Given the description of an element on the screen output the (x, y) to click on. 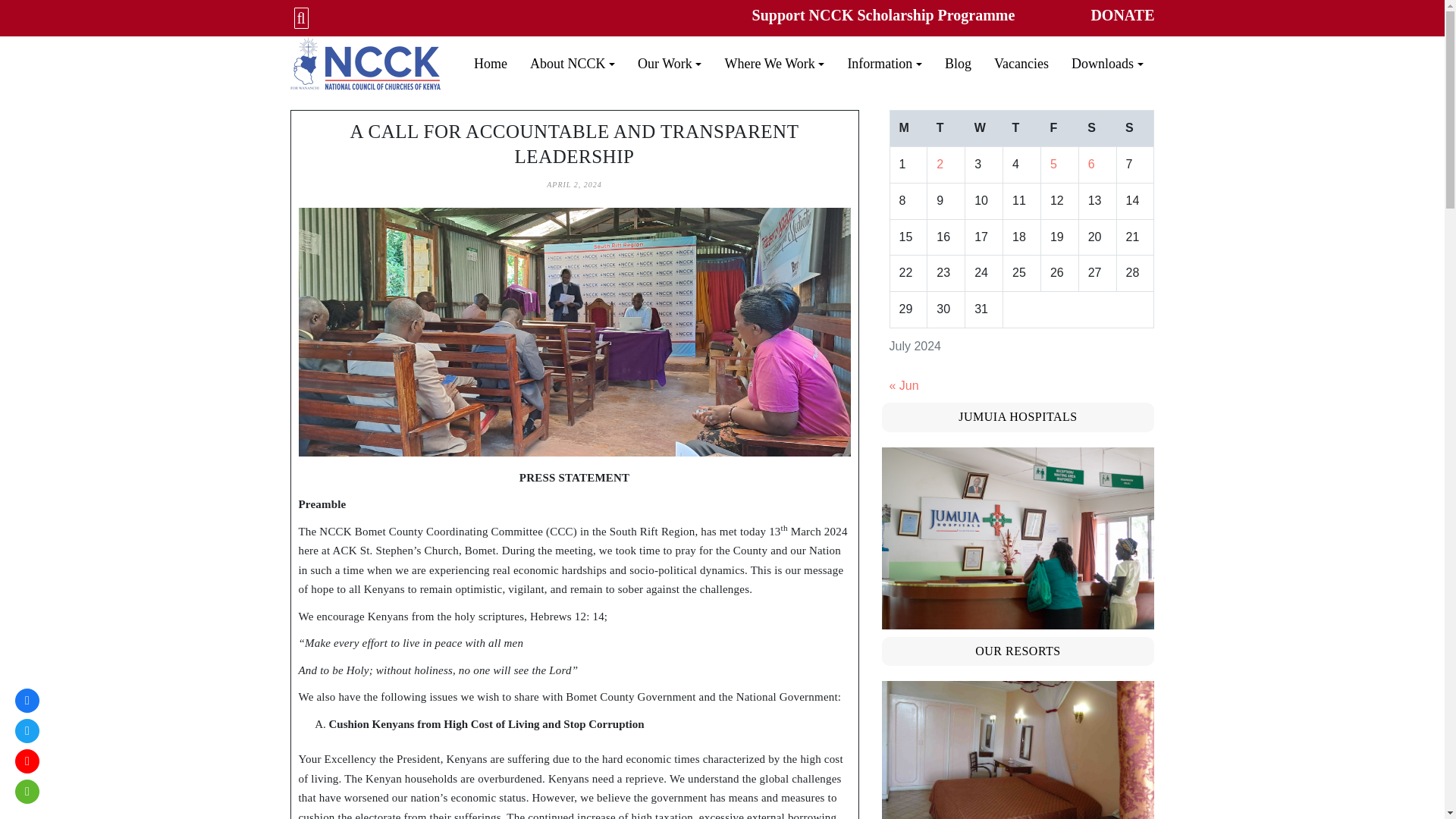
About NCCK (572, 63)
Monday (908, 128)
Tuesday (946, 128)
Where We Work (774, 63)
Support NCCK Scholarship Programme (883, 14)
DONATE (1122, 14)
Our Work (669, 63)
Home (490, 63)
